Given the description of an element on the screen output the (x, y) to click on. 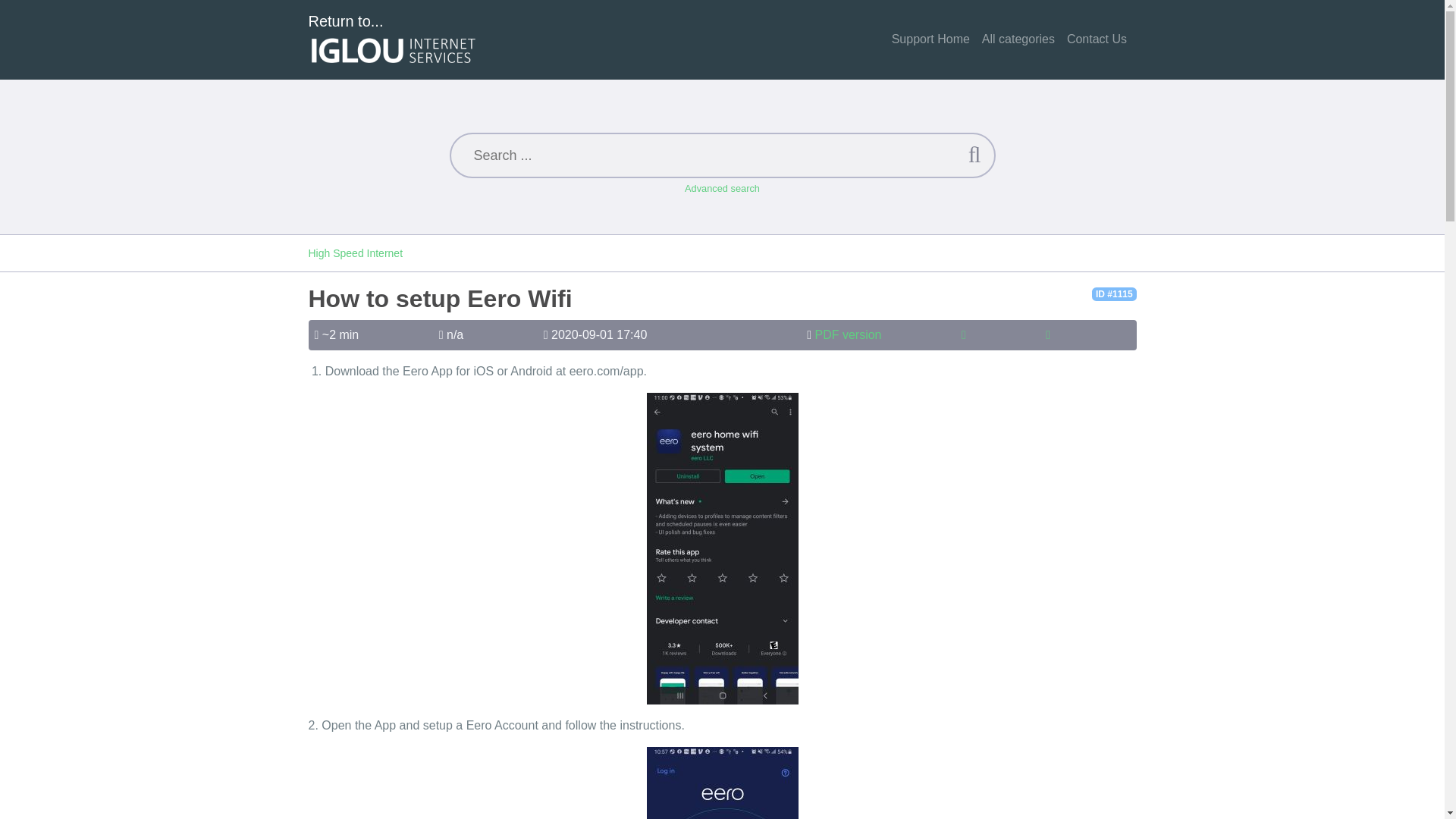
Support Home (930, 39)
PDF version (846, 334)
Return to... (393, 38)
Advanced search (722, 188)
PDF version (846, 334)
High Speed Internet (355, 253)
All categories (1018, 39)
Contact Us (1096, 39)
